Given the description of an element on the screen output the (x, y) to click on. 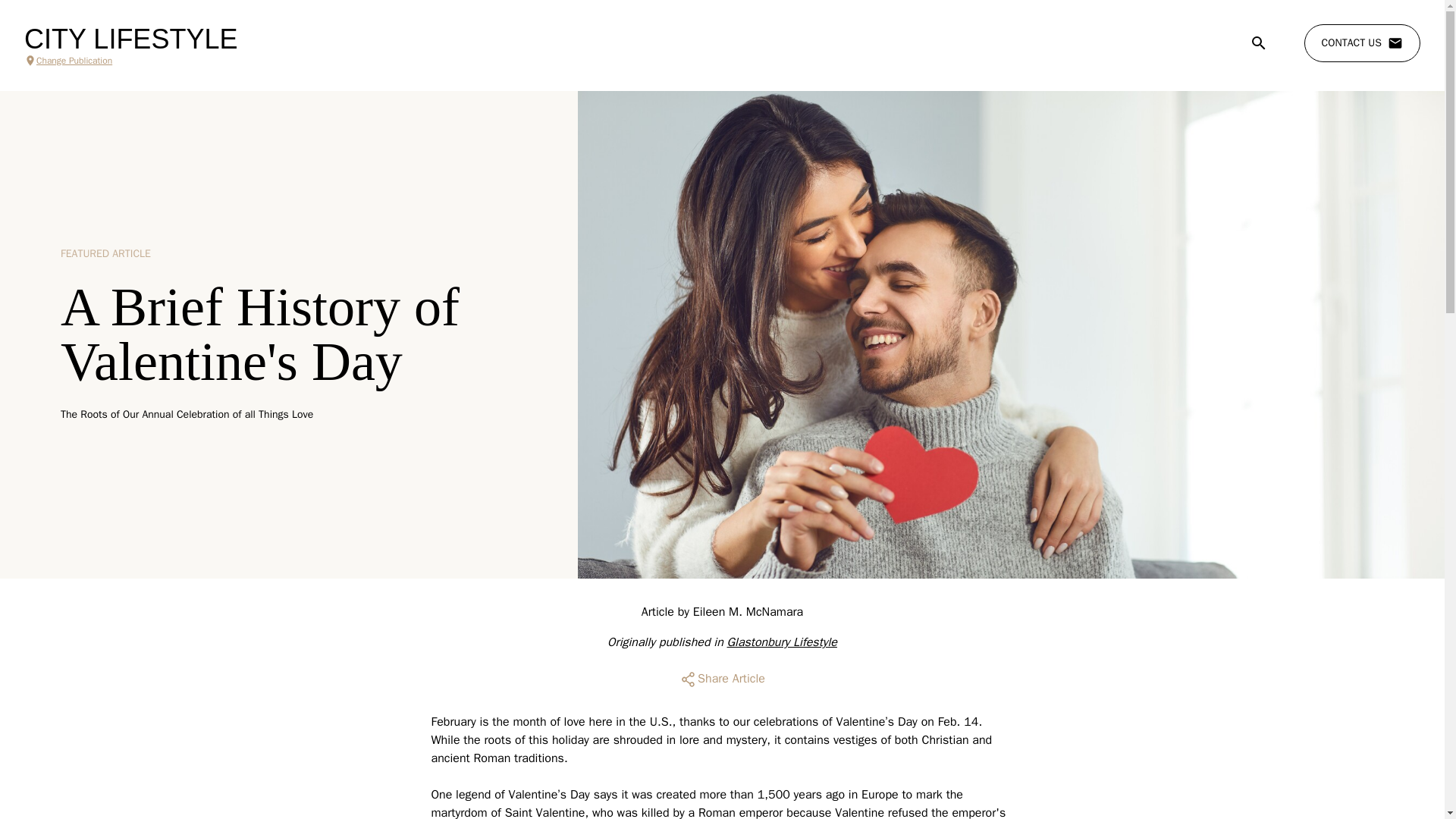
Share Article (722, 678)
CONTACT US (1362, 43)
Glastonbury Lifestyle (781, 642)
Change Publication (130, 60)
CITY LIFESTYLE (130, 39)
